Given the description of an element on the screen output the (x, y) to click on. 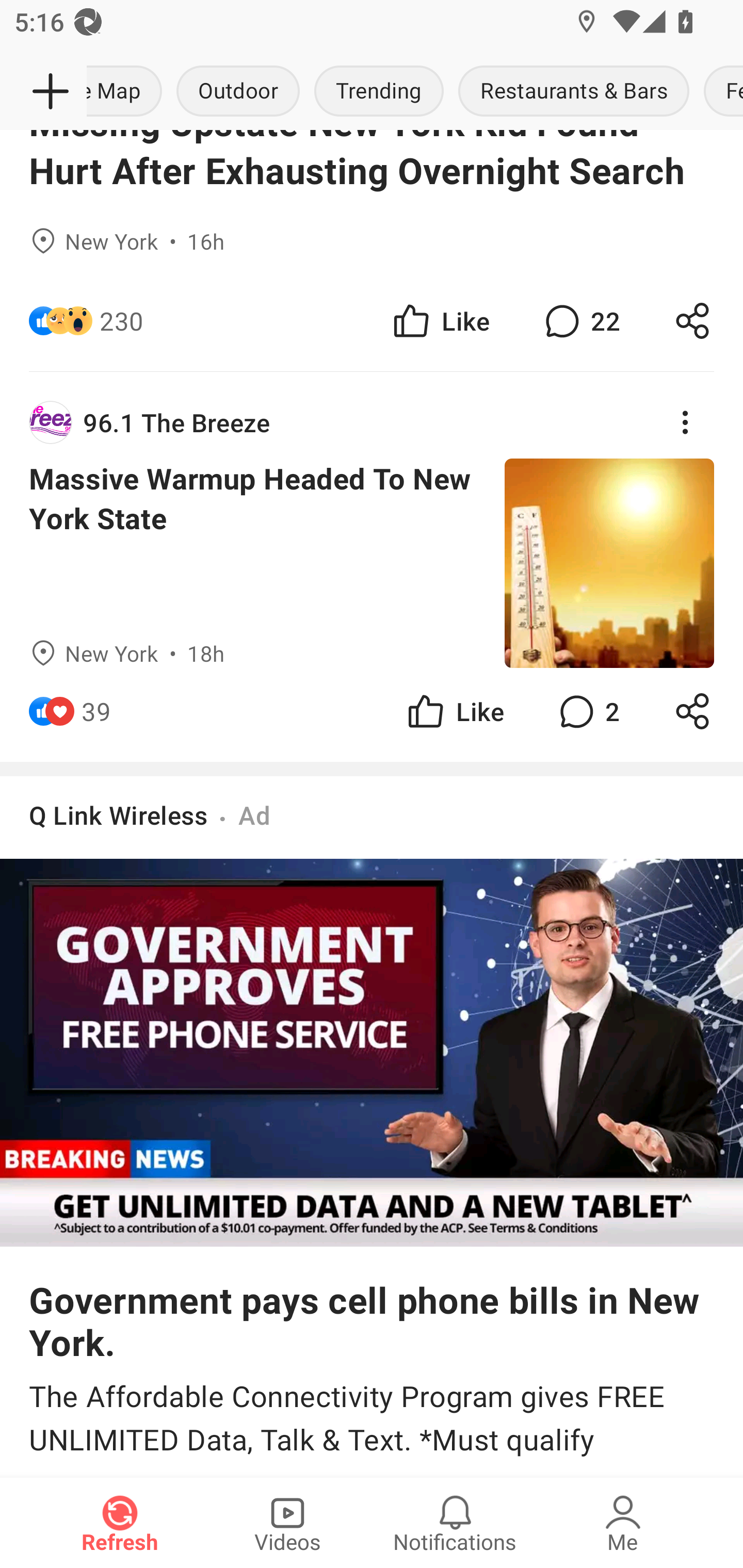
Outdoor (237, 91)
Trending (378, 91)
Restaurants & Bars (573, 91)
230 (121, 320)
Like (439, 320)
22 (579, 320)
39 (95, 710)
Like (454, 710)
2 (587, 710)
Q Link Wireless (117, 815)
Government pays cell phone bills in New York. (371, 1319)
Videos (287, 1522)
Notifications (455, 1522)
Me (622, 1522)
